Given the description of an element on the screen output the (x, y) to click on. 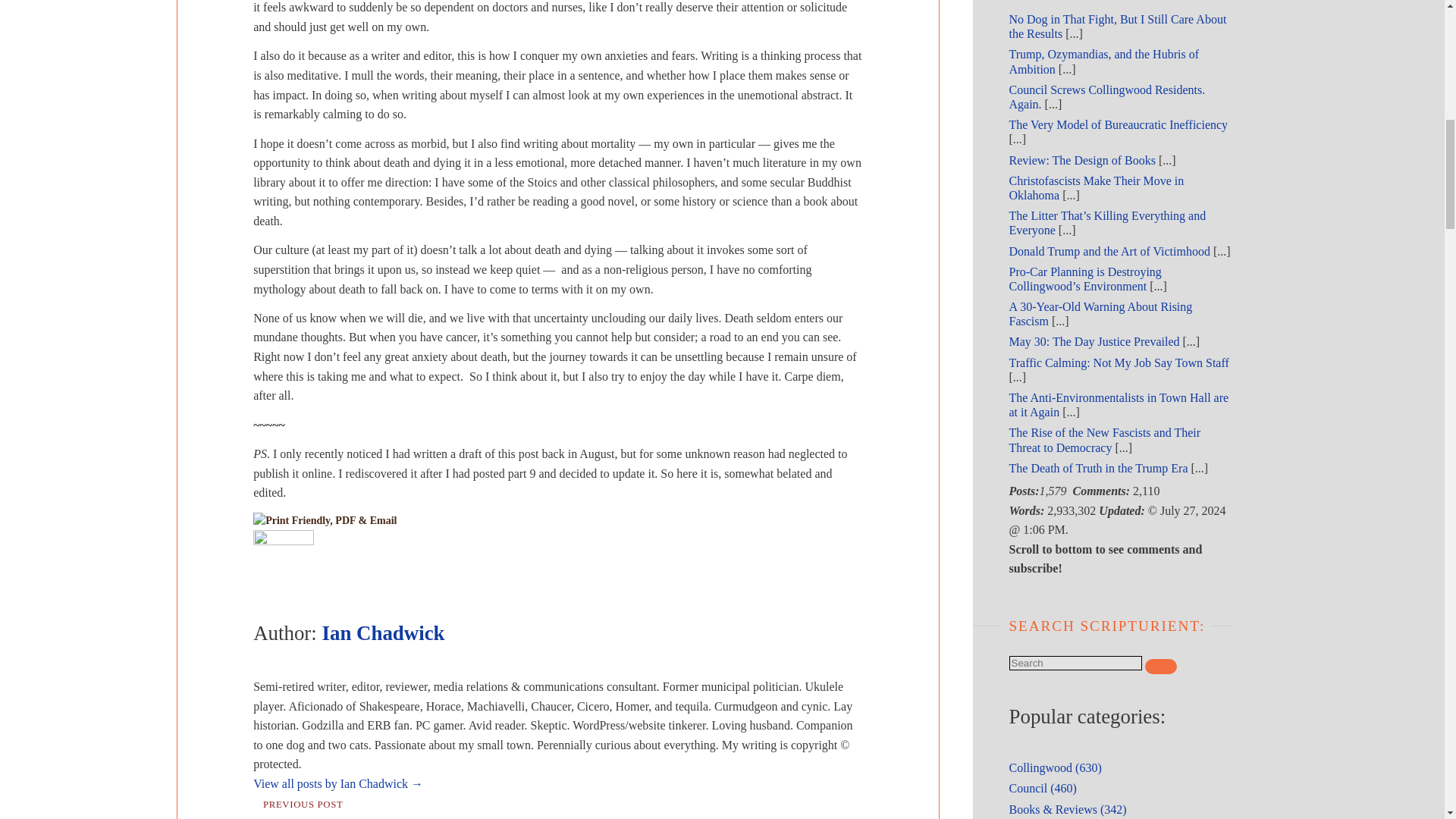
May 30: The Day Justice Prevailed (1094, 341)
Council Screws Collingwood Residents. Again. (1107, 96)
No Dog in That Fight, But I Still Care About the Results (1117, 26)
A 30-Year-Old Warning About Rising Fascism (1100, 313)
Trump, Ozymandias, and the Hubris of Ambition (1103, 61)
Review: The Design of Books (1081, 160)
Donald Trump and the Art of Victimhood (1109, 250)
The Very Model of Bureaucratic Inefficiency (1118, 124)
Christofascists Make Their Move in Oklahoma (1096, 187)
